Given the description of an element on the screen output the (x, y) to click on. 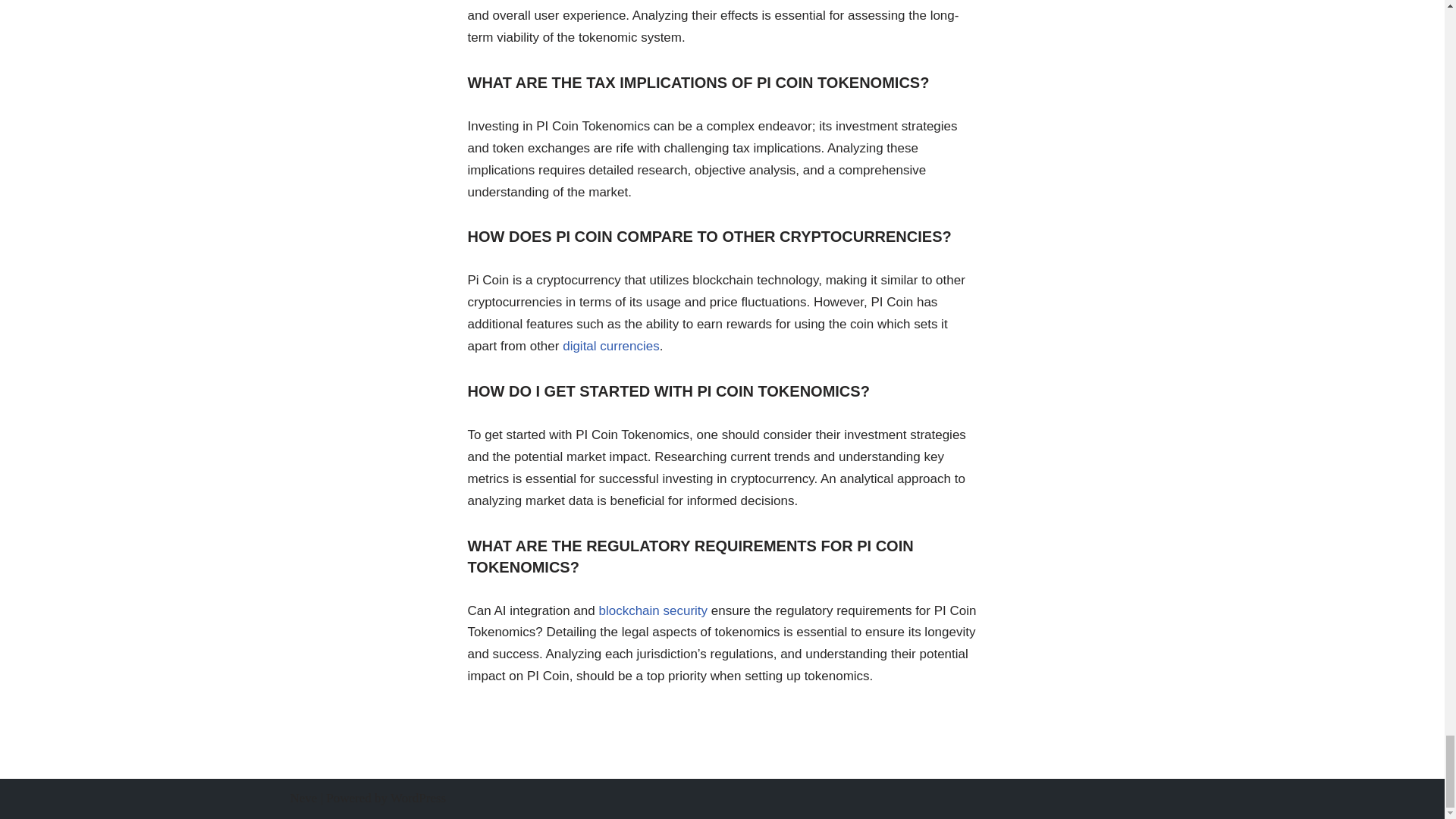
blockchain security (652, 610)
digital currencies (610, 345)
WordPress (417, 798)
Neve (303, 798)
